Given the description of an element on the screen output the (x, y) to click on. 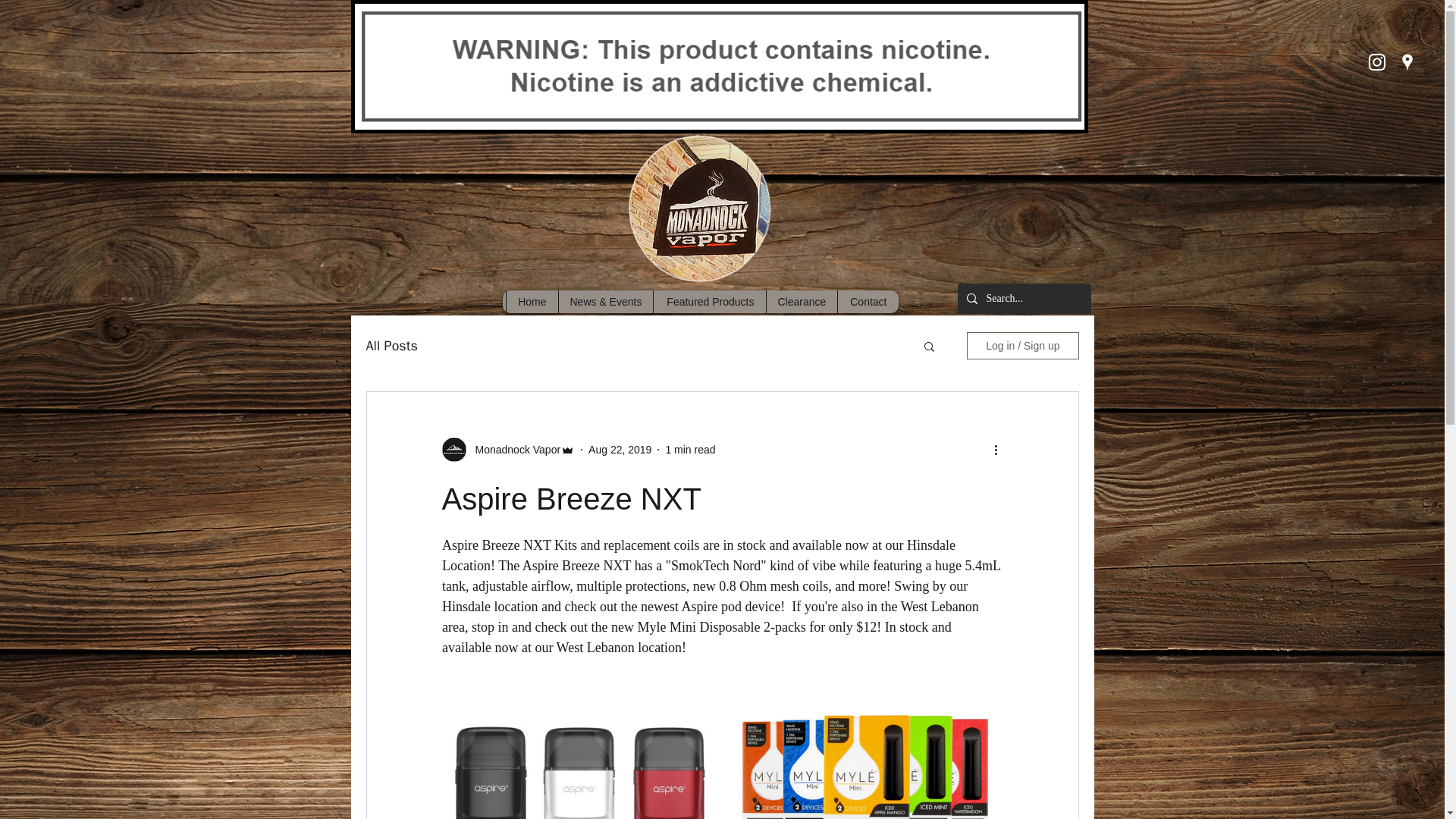
Contact (867, 301)
Featured Products (708, 301)
Home (531, 301)
1 min read (689, 449)
Clearance (801, 301)
Aug 22, 2019 (619, 449)
All Posts (390, 345)
Monadnock Vapor (512, 449)
